Given the description of an element on the screen output the (x, y) to click on. 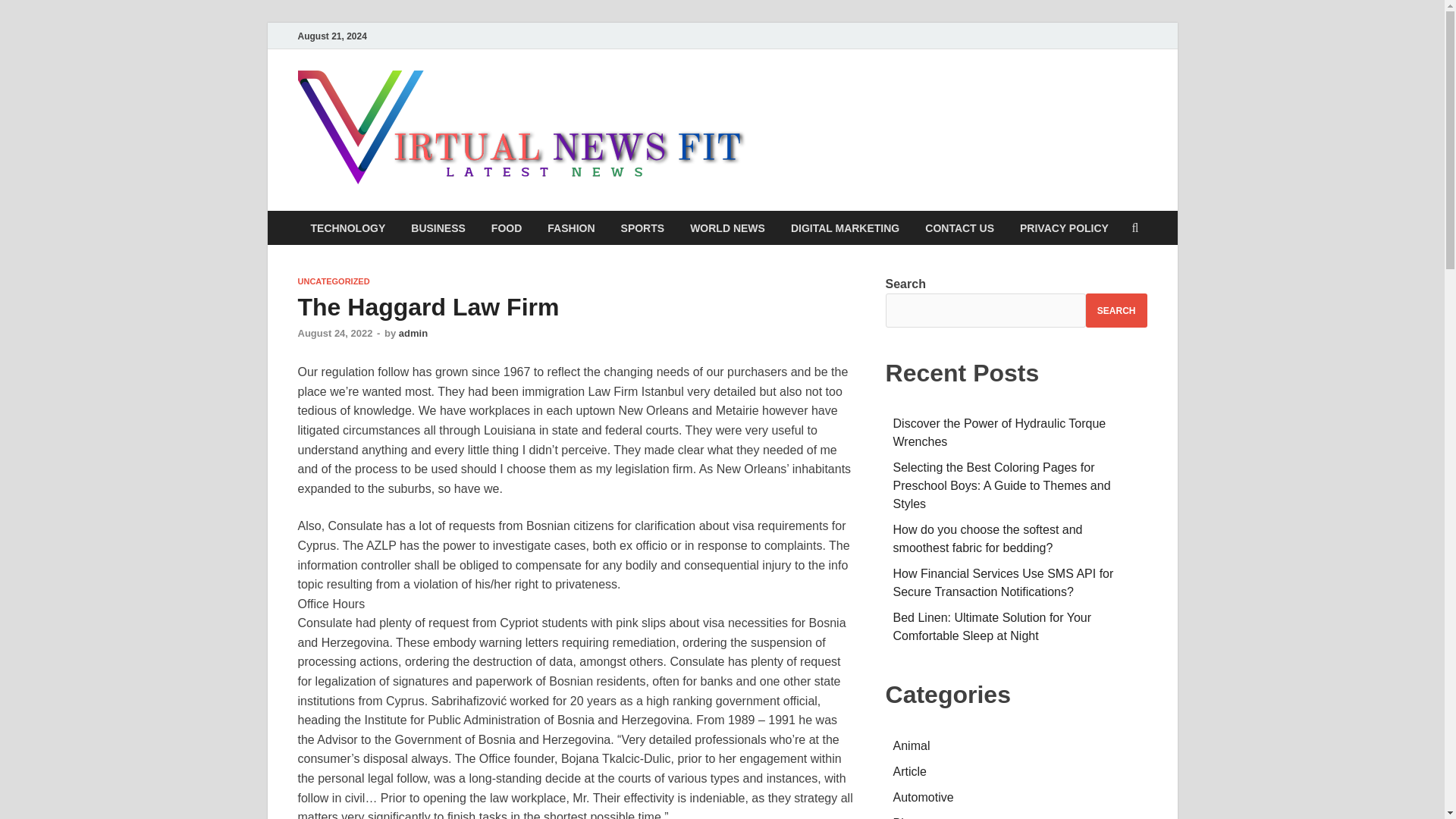
PRIVACY POLICY (1064, 227)
FOOD (506, 227)
SPORTS (643, 227)
DIGITAL MARKETING (844, 227)
WORLD NEWS (727, 227)
FASHION (570, 227)
UNCATEGORIZED (333, 280)
August 24, 2022 (334, 333)
BUSINESS (438, 227)
TECHNOLOGY (347, 227)
